Given the description of an element on the screen output the (x, y) to click on. 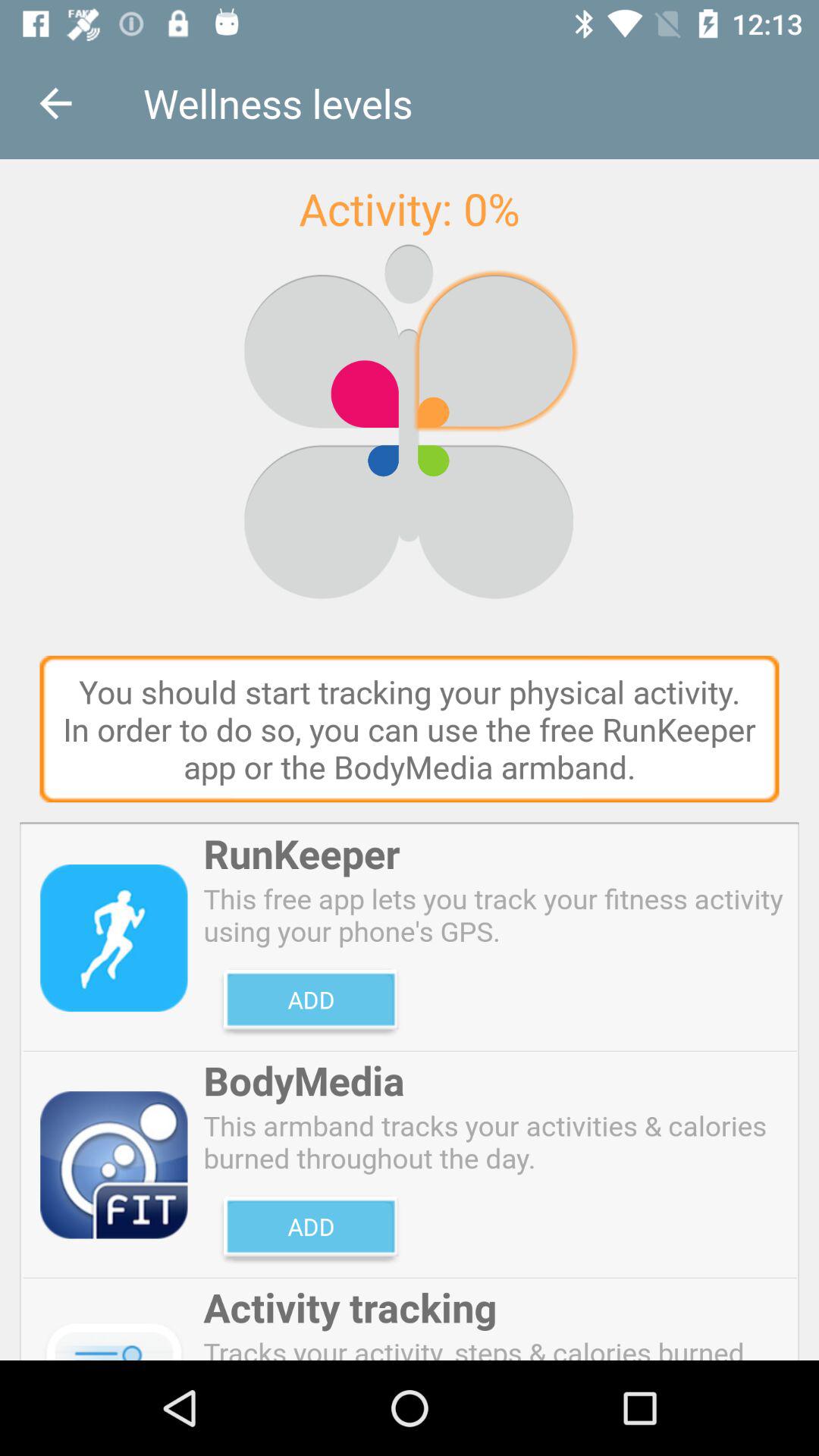
turn on icon at the top left corner (55, 103)
